Given the description of an element on the screen output the (x, y) to click on. 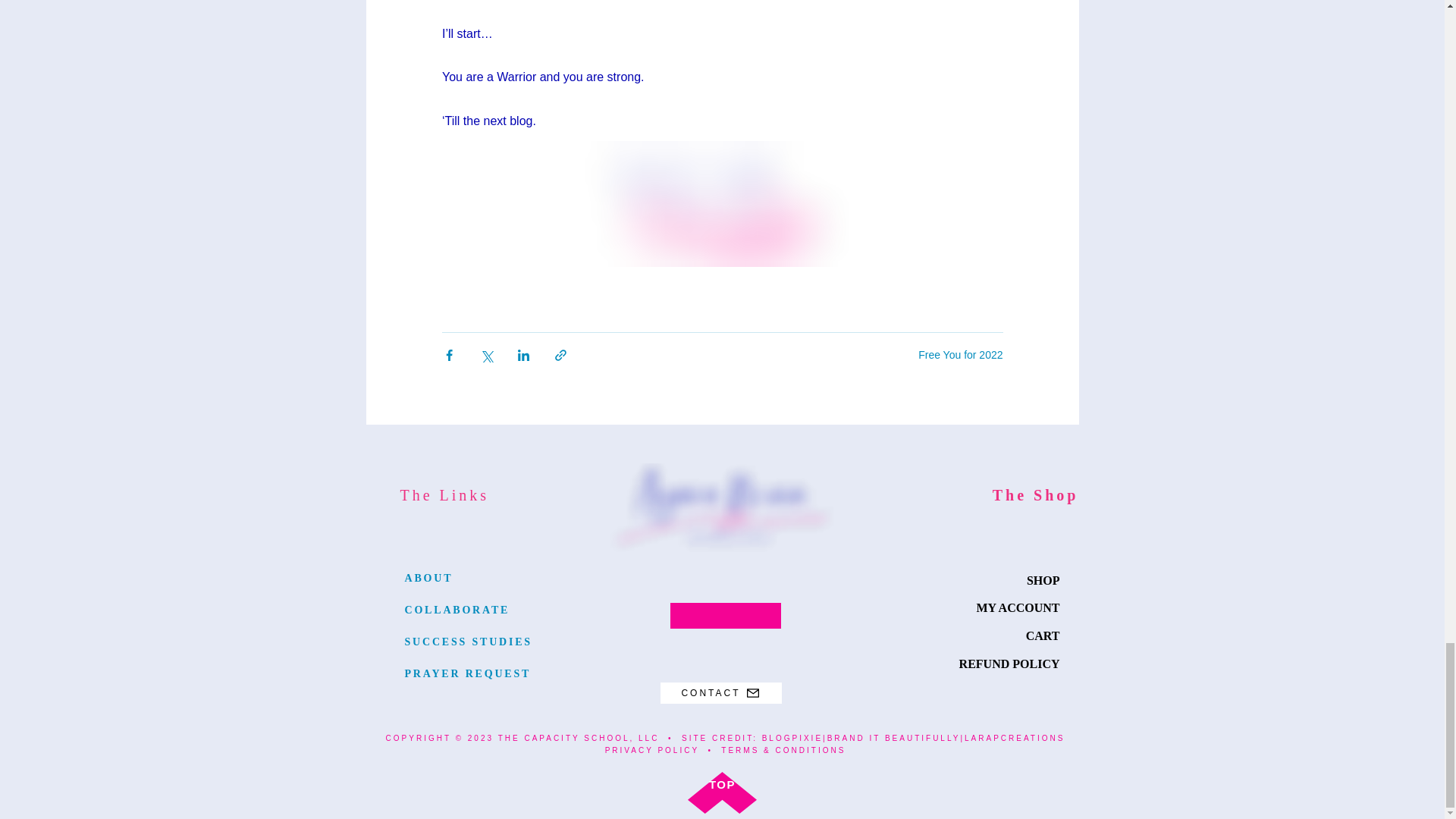
REFUND POLICY (1009, 663)
PRIVACY POLICY (651, 750)
PRAYER REQUEST (467, 673)
SUCCESS STUDIES (468, 641)
CONTACT (719, 692)
SHOP (1042, 580)
Free You for 2022 (960, 354)
ABOUT (428, 577)
MY ACCOUNT (1017, 607)
TOP (722, 784)
